Given the description of an element on the screen output the (x, y) to click on. 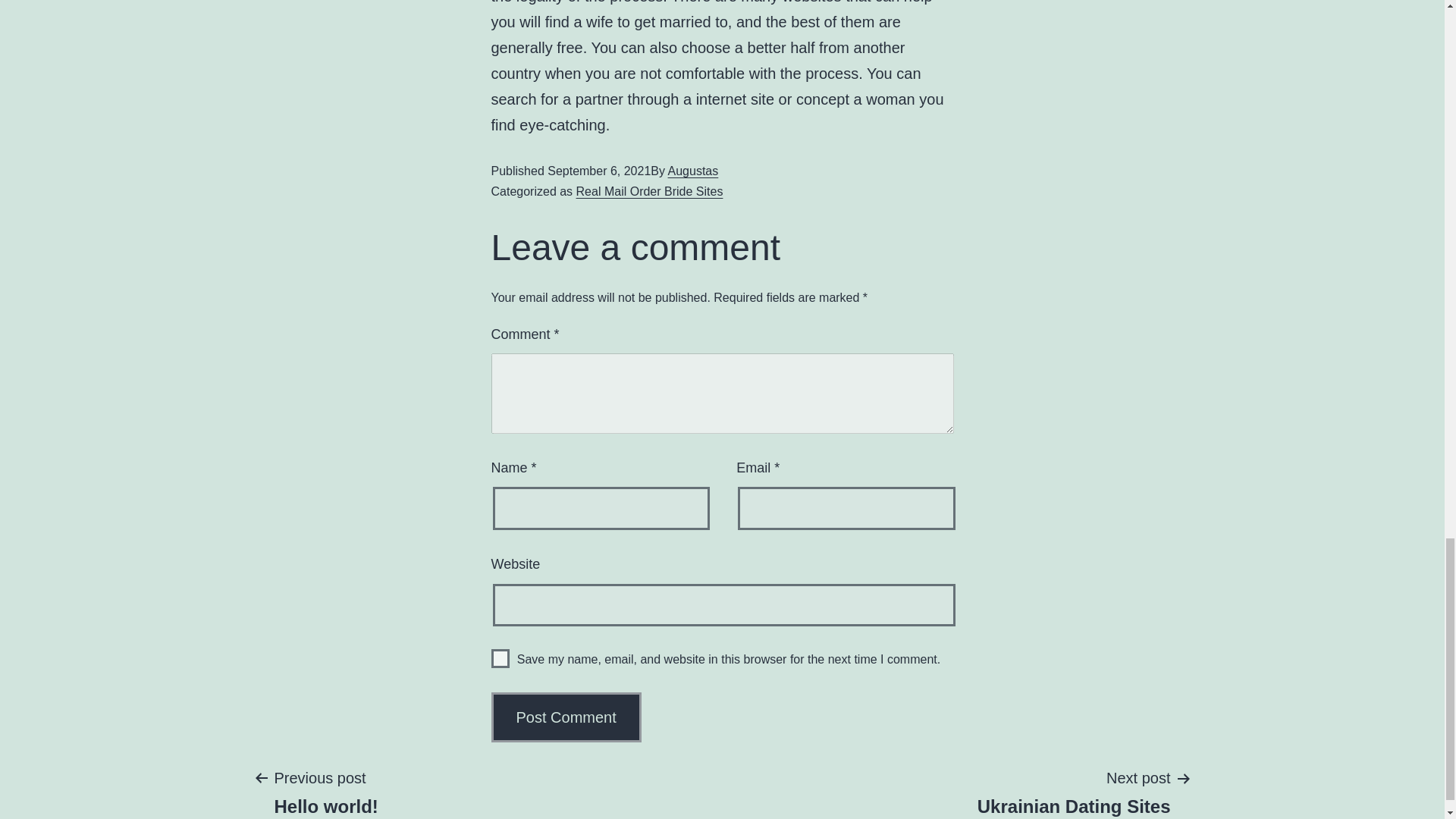
Augustas (693, 170)
Real Mail Order Bride Sites (649, 191)
Post Comment (567, 717)
yes (500, 658)
Post Comment (567, 717)
